Given the description of an element on the screen output the (x, y) to click on. 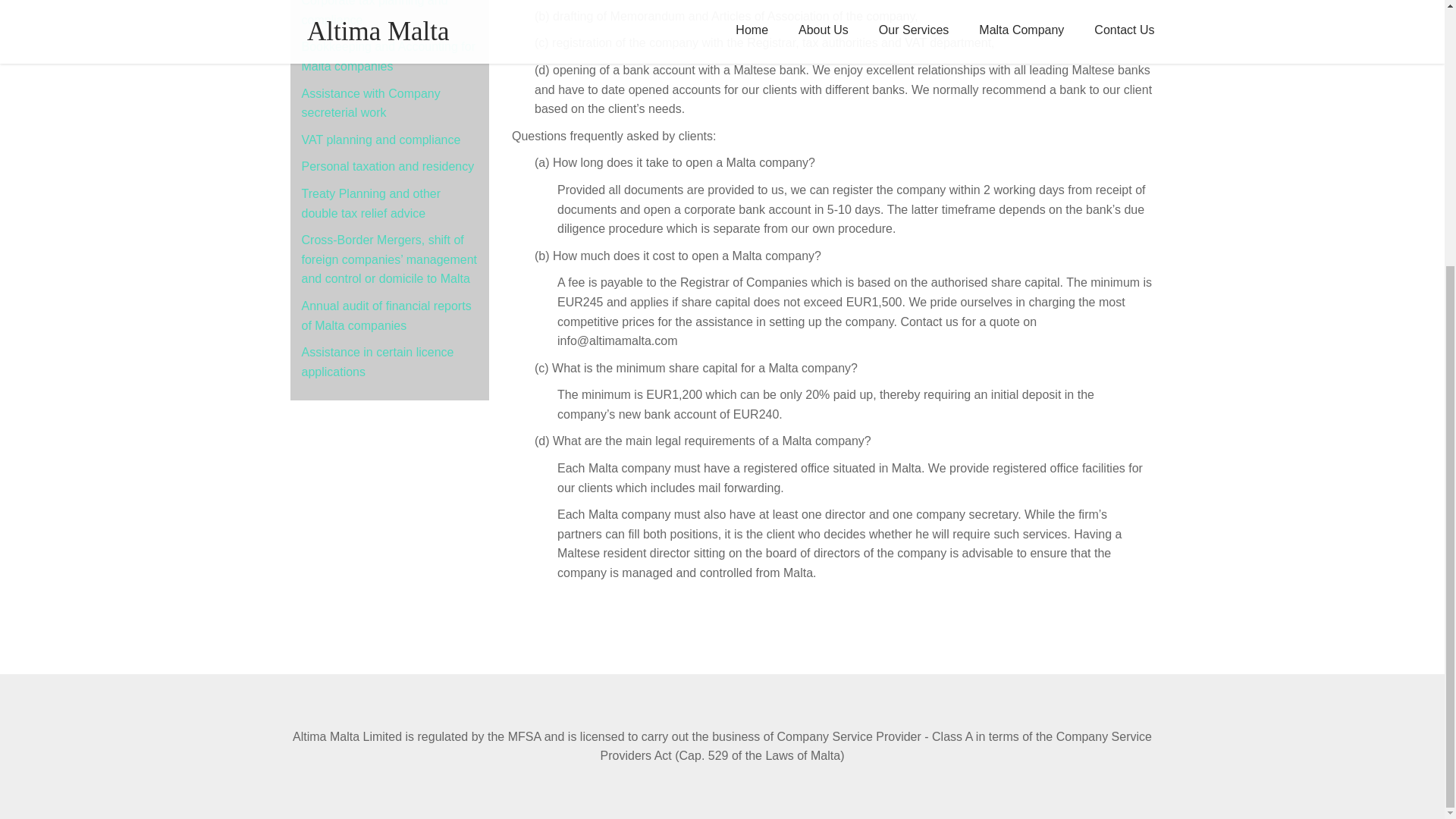
Assistance with Company secreterial work (371, 102)
Assistance in certain licence applications (377, 361)
VAT planning and compliance (381, 139)
Bookkeeping and Accounting for Malta companies (388, 56)
Treaty Planning and other double tax relief advice (371, 203)
Corporate tax planning and compliance (374, 13)
Personal taxation and residency (387, 165)
Annual audit of financial reports of Malta companies (386, 315)
